Given the description of an element on the screen output the (x, y) to click on. 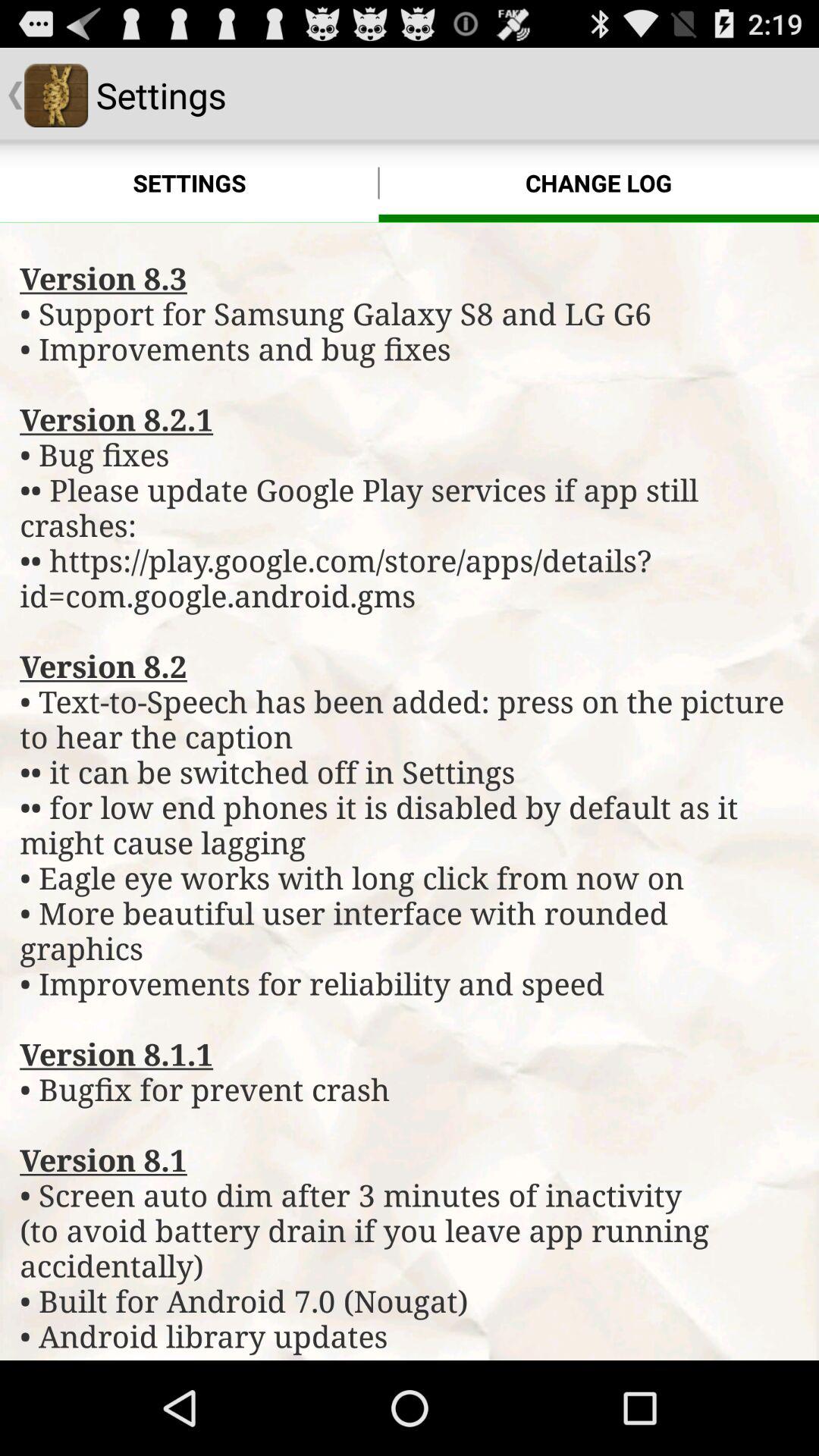
swipe until change log icon (598, 182)
